Given the description of an element on the screen output the (x, y) to click on. 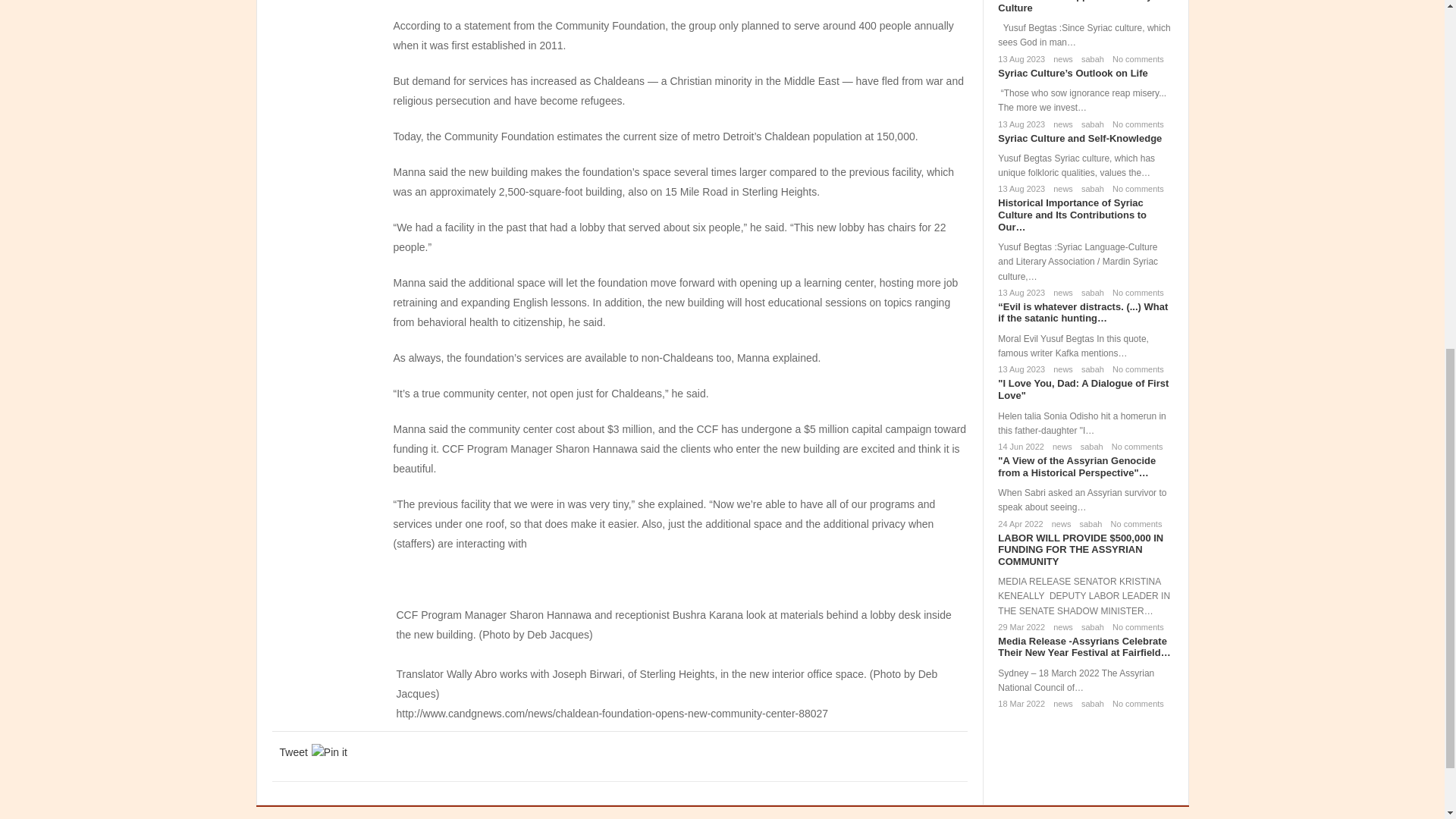
Pin it (329, 751)
Administrative Approaches in Syriac Culture (1083, 6)
I Love You, Dad: A Dialogue of First Love (1083, 389)
Tweet (293, 751)
